Given the description of an element on the screen output the (x, y) to click on. 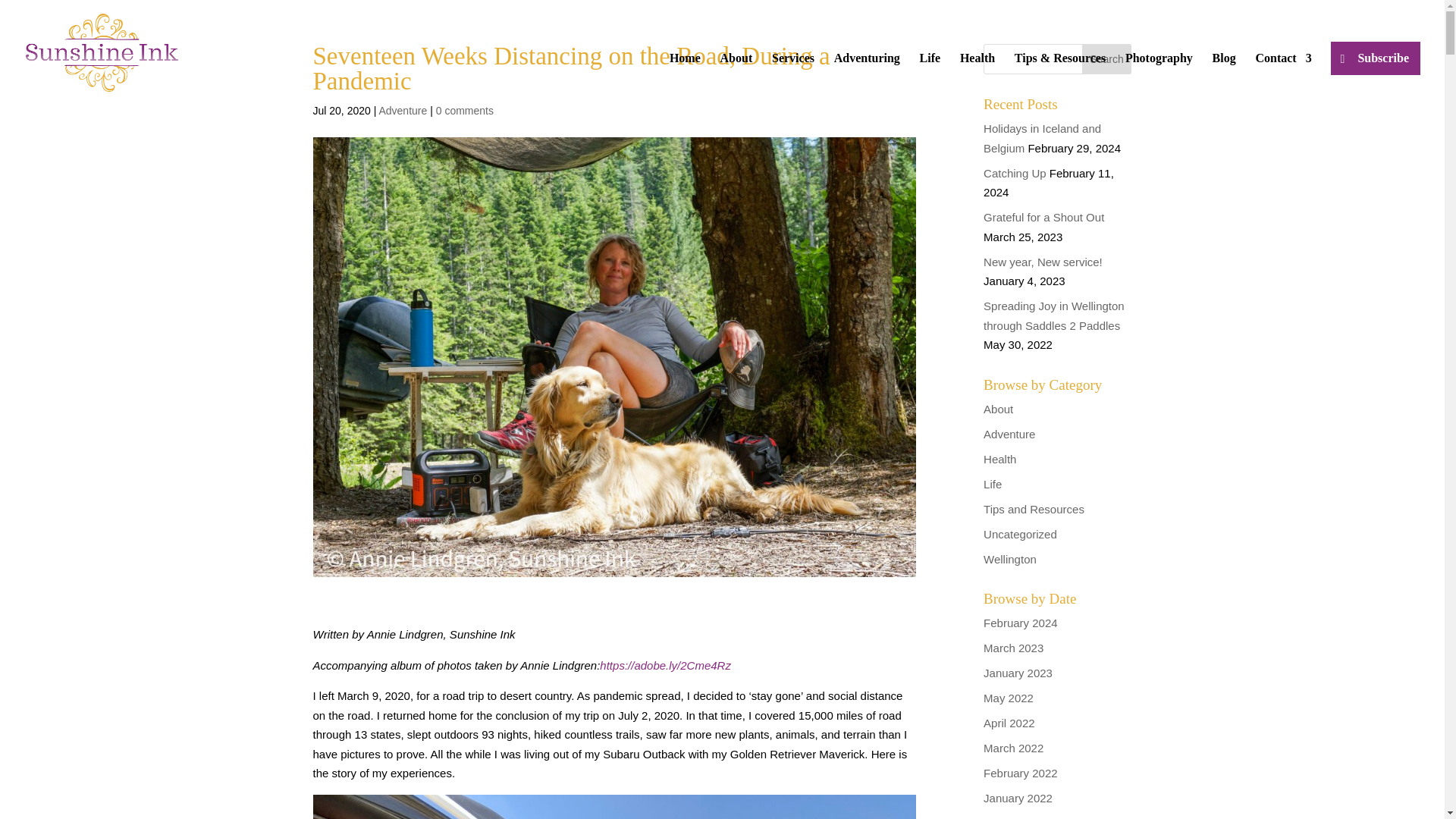
Tips and Resources (1034, 508)
Catching Up (1015, 173)
Search (1106, 59)
Search (1106, 59)
New year, New service! (1043, 260)
Spreading Joy in Wellington through Saddles 2 Paddles (1054, 315)
Adventure (402, 110)
Subscribe (1375, 58)
About (998, 408)
Health (1000, 458)
0 comments (464, 110)
Contact (1283, 79)
Life (992, 483)
Photography (1158, 79)
Grateful for a Shout Out (1043, 216)
